Given the description of an element on the screen output the (x, y) to click on. 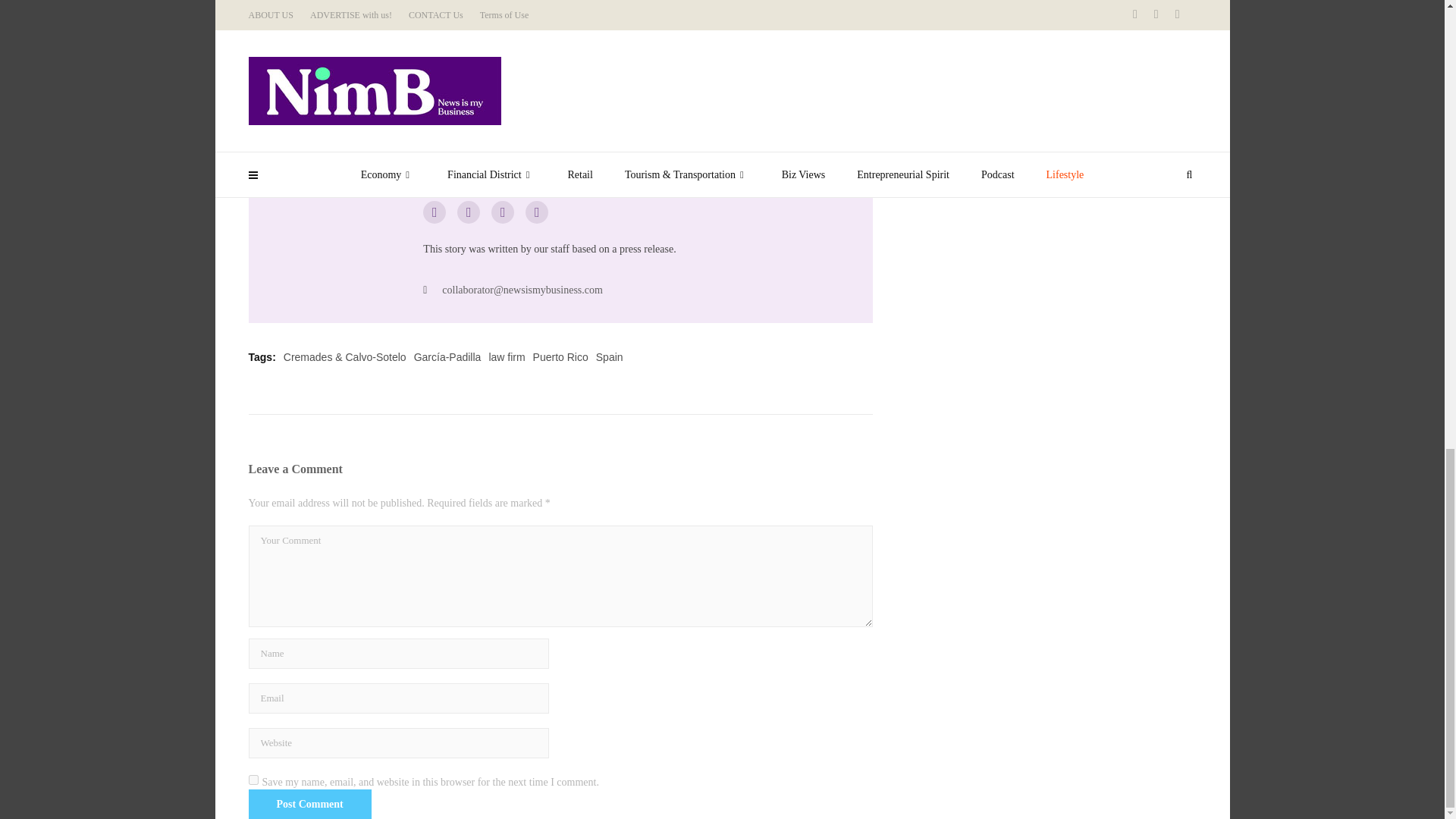
Post Comment (309, 804)
yes (253, 779)
